Given the description of an element on the screen output the (x, y) to click on. 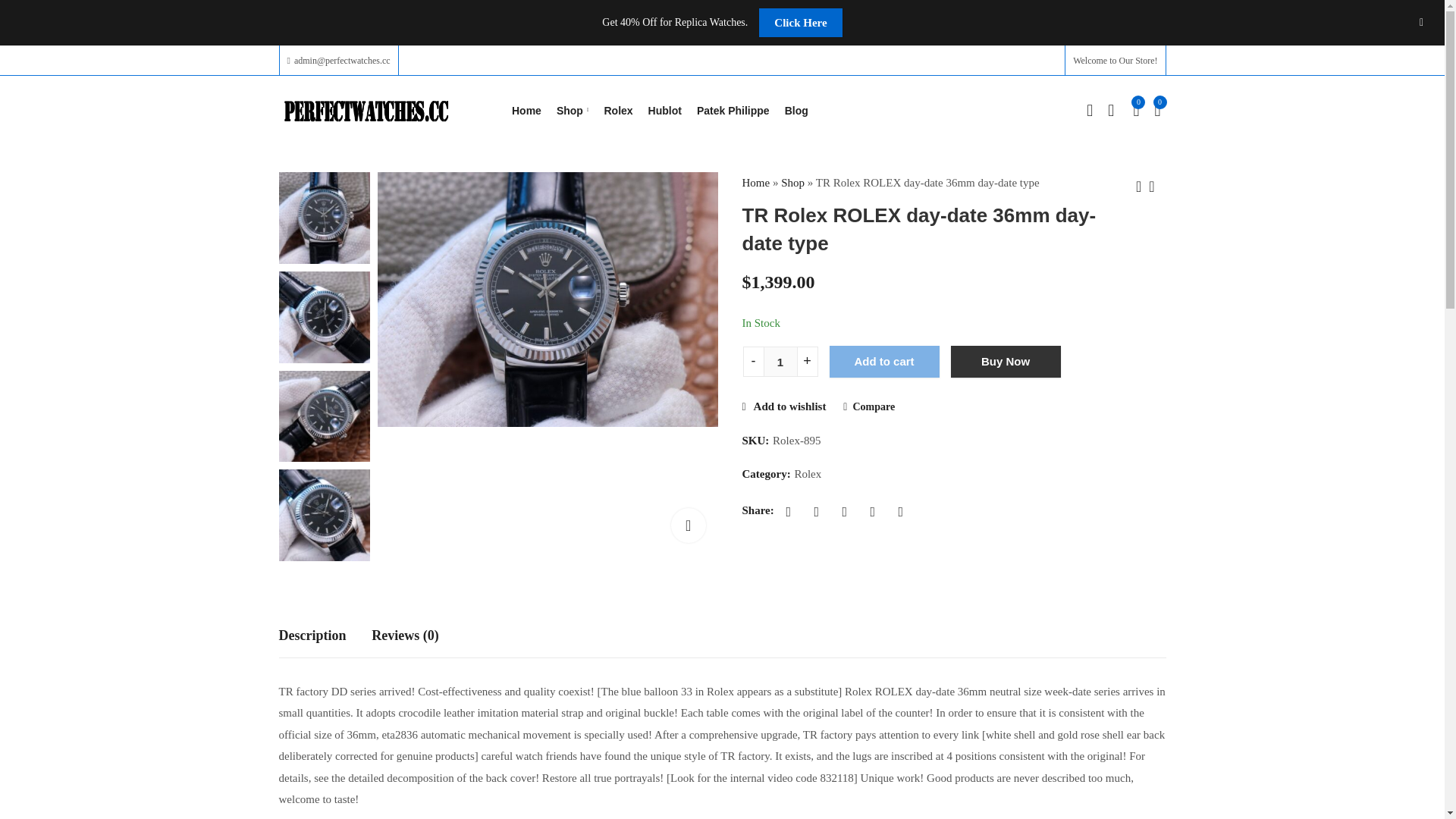
Hublot (664, 110)
rolex-895-1.jpg (547, 298)
Patek Philippe (732, 110)
Qty (779, 361)
Shop (572, 110)
Blog (796, 110)
Click Here (799, 22)
Home (525, 110)
Lightbox (688, 524)
1 (779, 361)
